Given the description of an element on the screen output the (x, y) to click on. 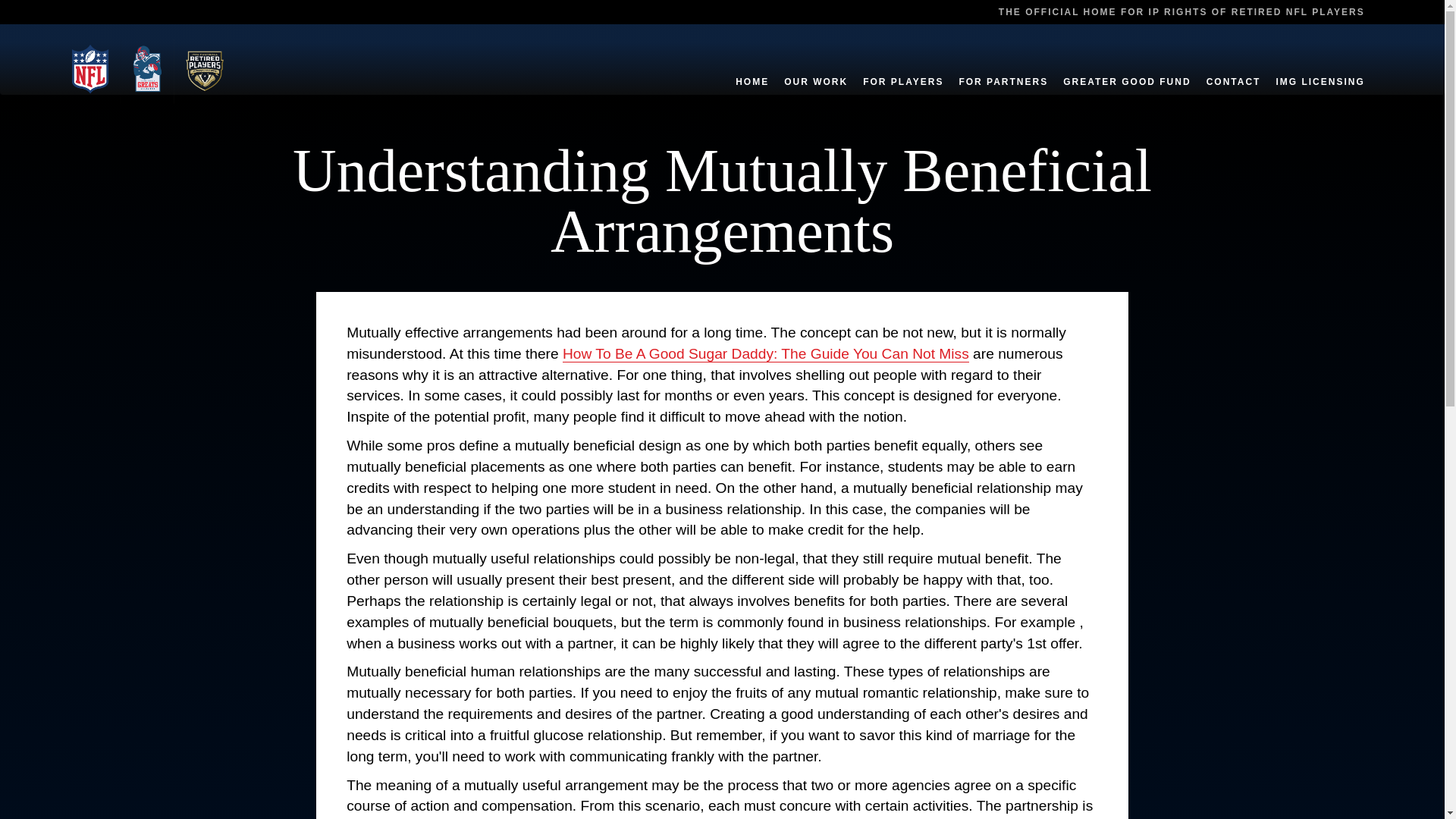
How To Be A Good Sugar Daddy: The Guide You Can Not Miss (765, 353)
CONTACT (1233, 65)
FOR PLAYERS (903, 65)
HOME (752, 65)
IMG LICENSING (1319, 65)
GREATER GOOD FUND (1126, 65)
FOR PARTNERS (1002, 65)
OUR WORK (816, 65)
